Given the description of an element on the screen output the (x, y) to click on. 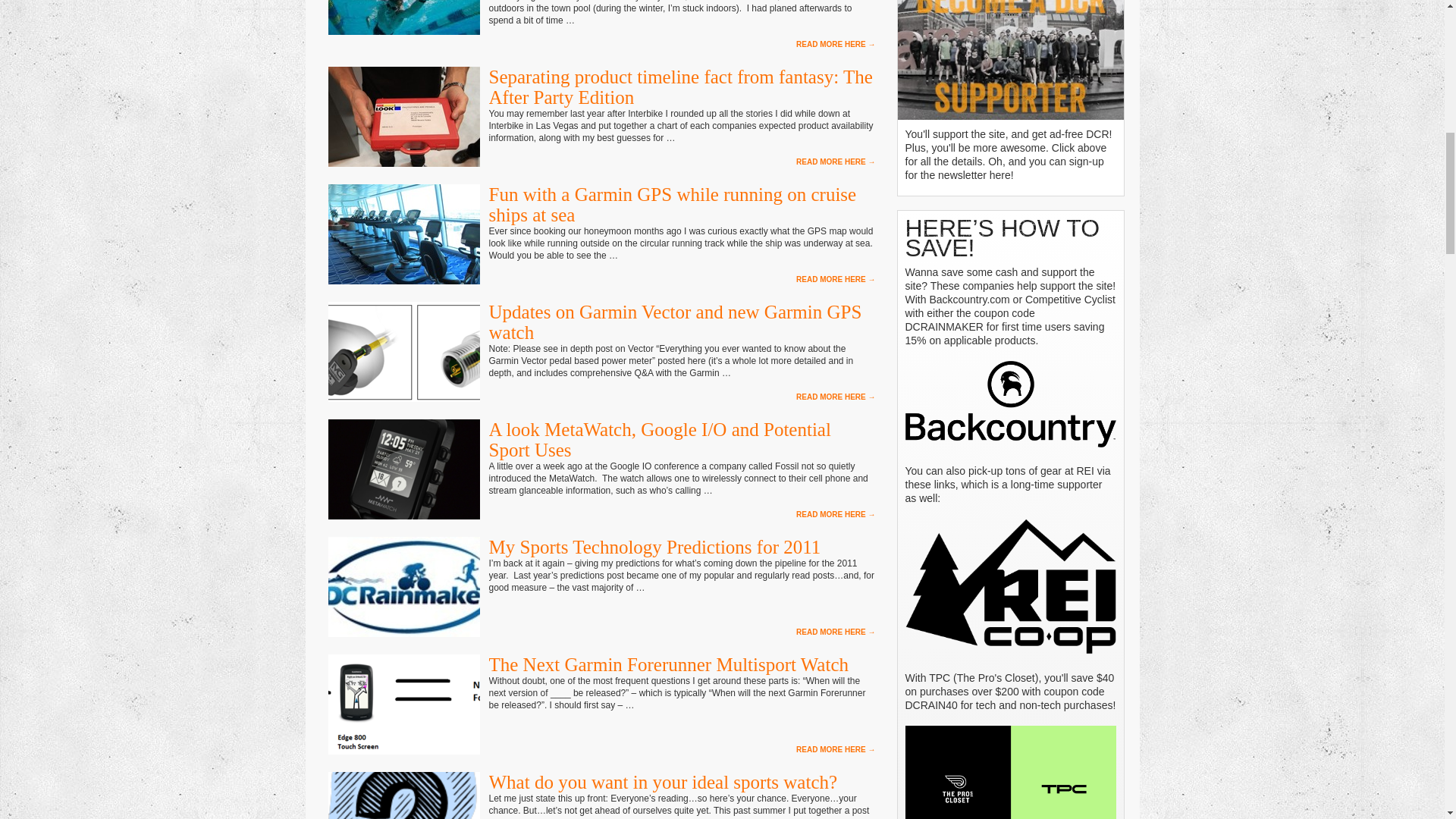
Permalink to What do you want in your ideal sports watch? (662, 782)
Permalink to The Next Garmin Forerunner Multisport Watch (667, 664)
Permalink to My Sports Technology Predictions for 2011 (654, 547)
